Given the description of an element on the screen output the (x, y) to click on. 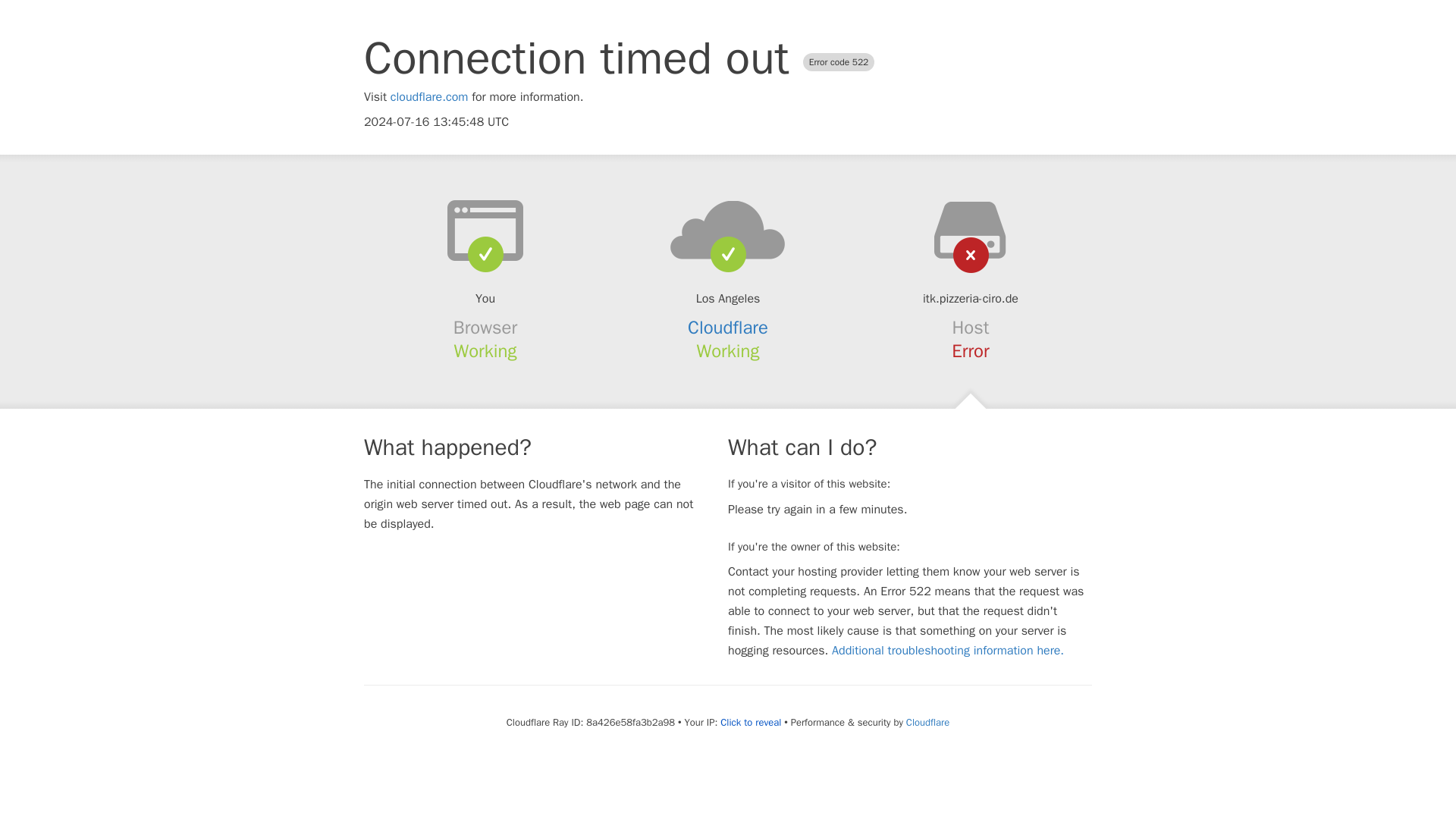
cloudflare.com (429, 96)
Click to reveal (750, 722)
Cloudflare (927, 721)
Additional troubleshooting information here. (947, 650)
Cloudflare (727, 327)
